Given the description of an element on the screen output the (x, y) to click on. 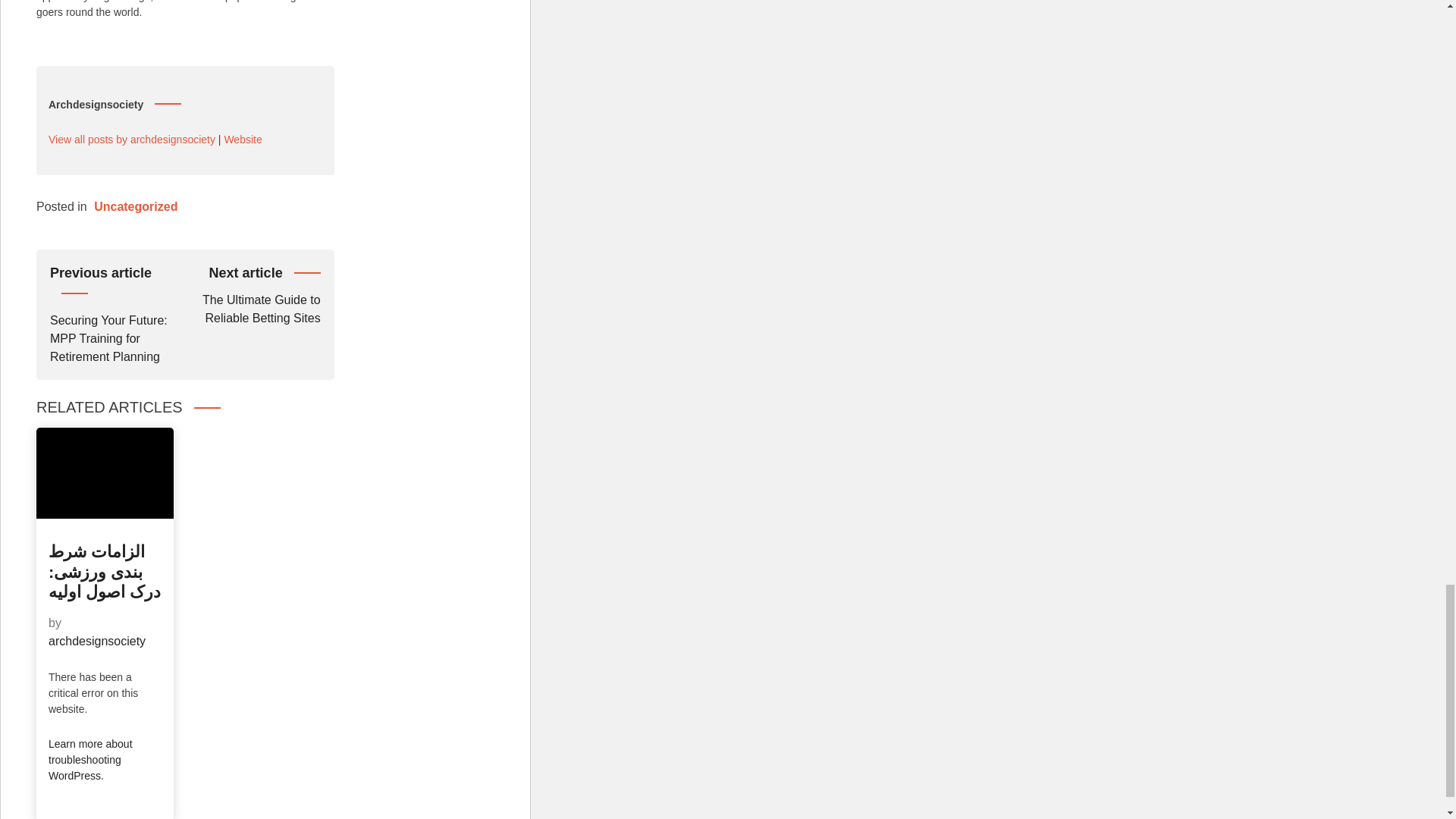
archdesignsociety (96, 640)
View all posts by archdesignsociety (131, 138)
Uncategorized (135, 205)
Website (243, 138)
